Given the description of an element on the screen output the (x, y) to click on. 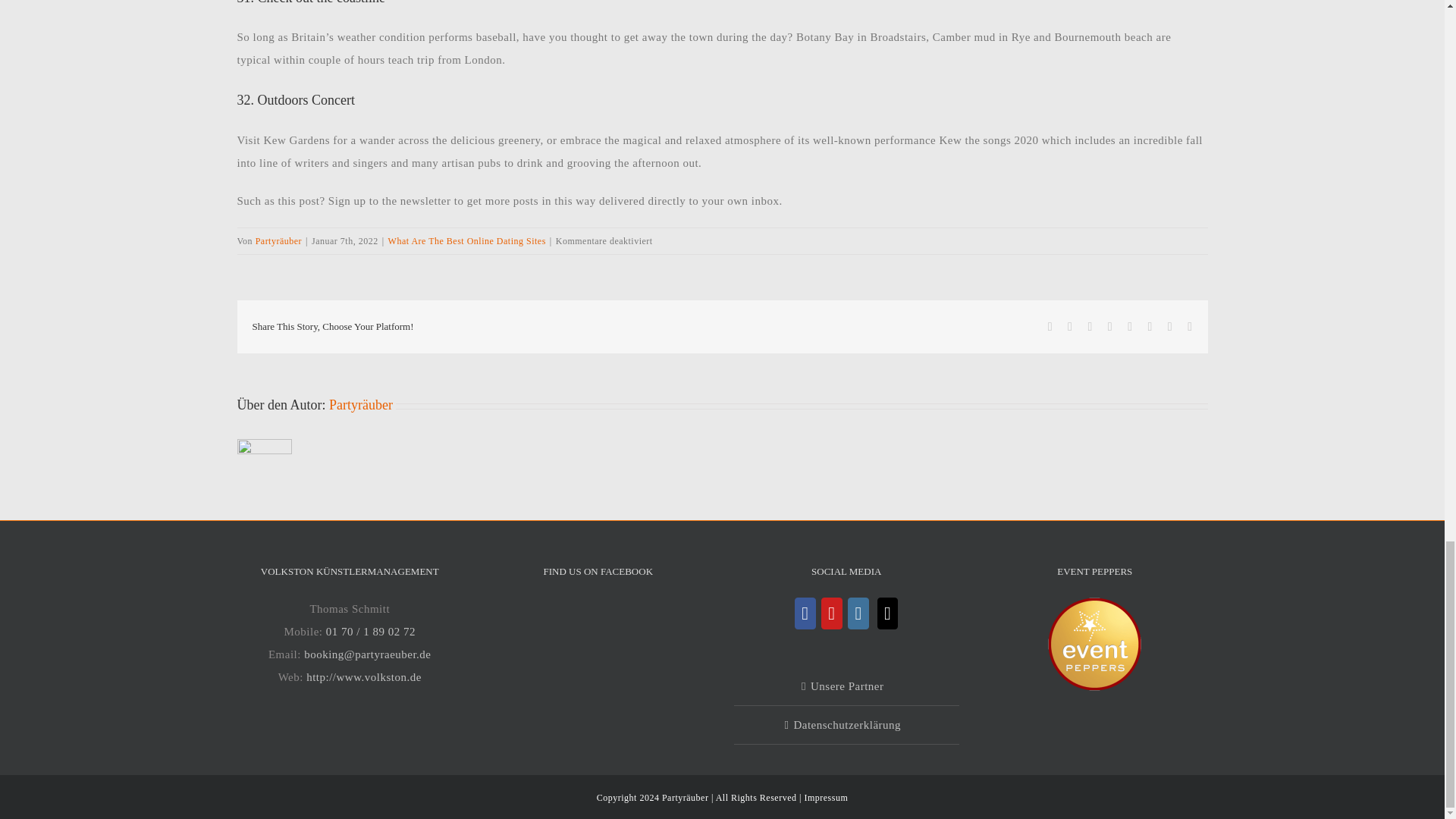
What Are The Best Online Dating Sites (467, 240)
Vk (1169, 326)
Pinterest (1149, 326)
Reddit (1089, 326)
Facebook (1050, 326)
LinkedIn (1110, 326)
E-Mail (1190, 326)
Twitter (1069, 326)
Tumblr (1129, 326)
